Given the description of an element on the screen output the (x, y) to click on. 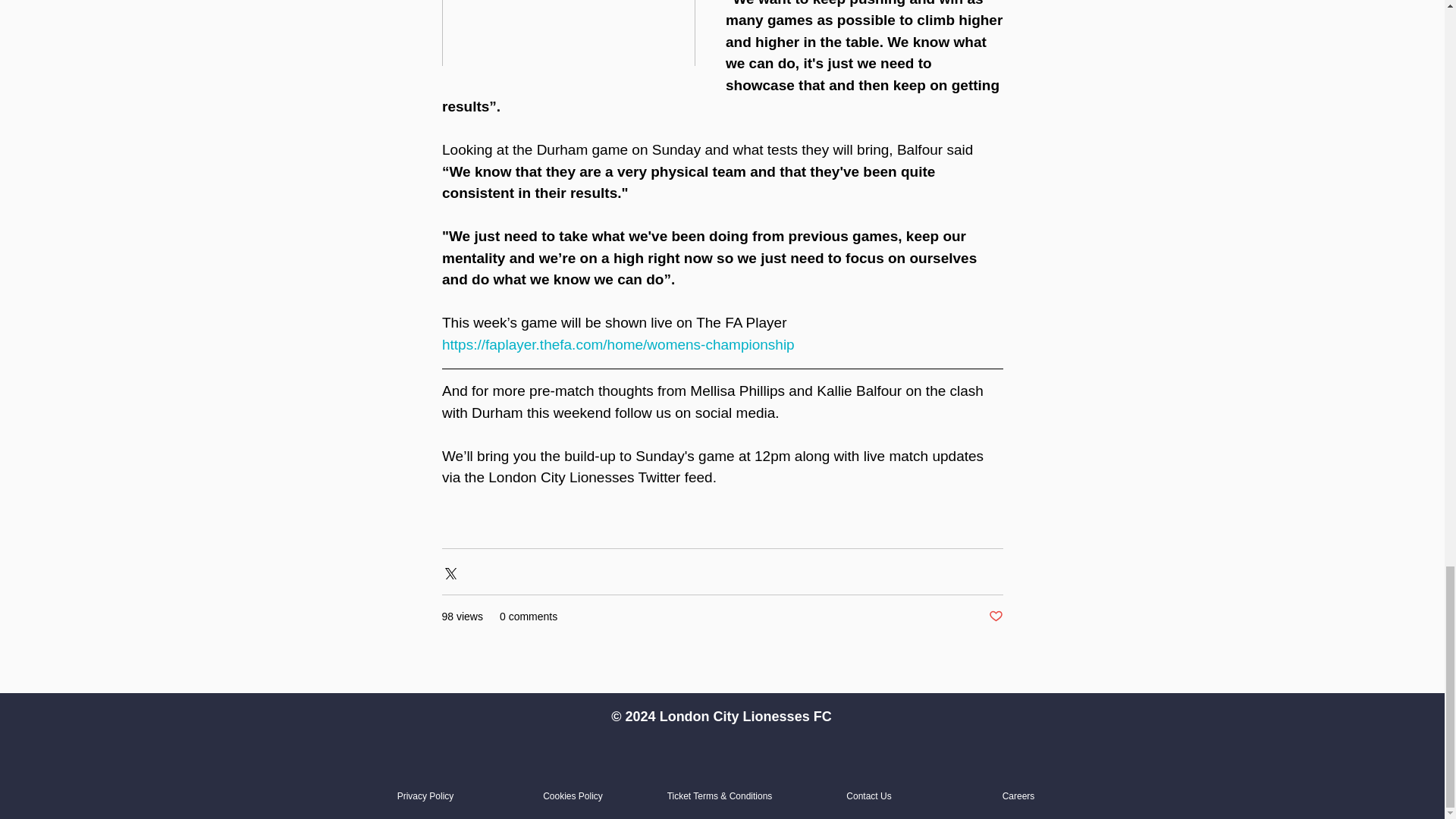
Careers (1019, 796)
Contact Us (868, 796)
Privacy Policy (425, 796)
Cookies Policy (572, 796)
Post not marked as liked (995, 616)
